Given the description of an element on the screen output the (x, y) to click on. 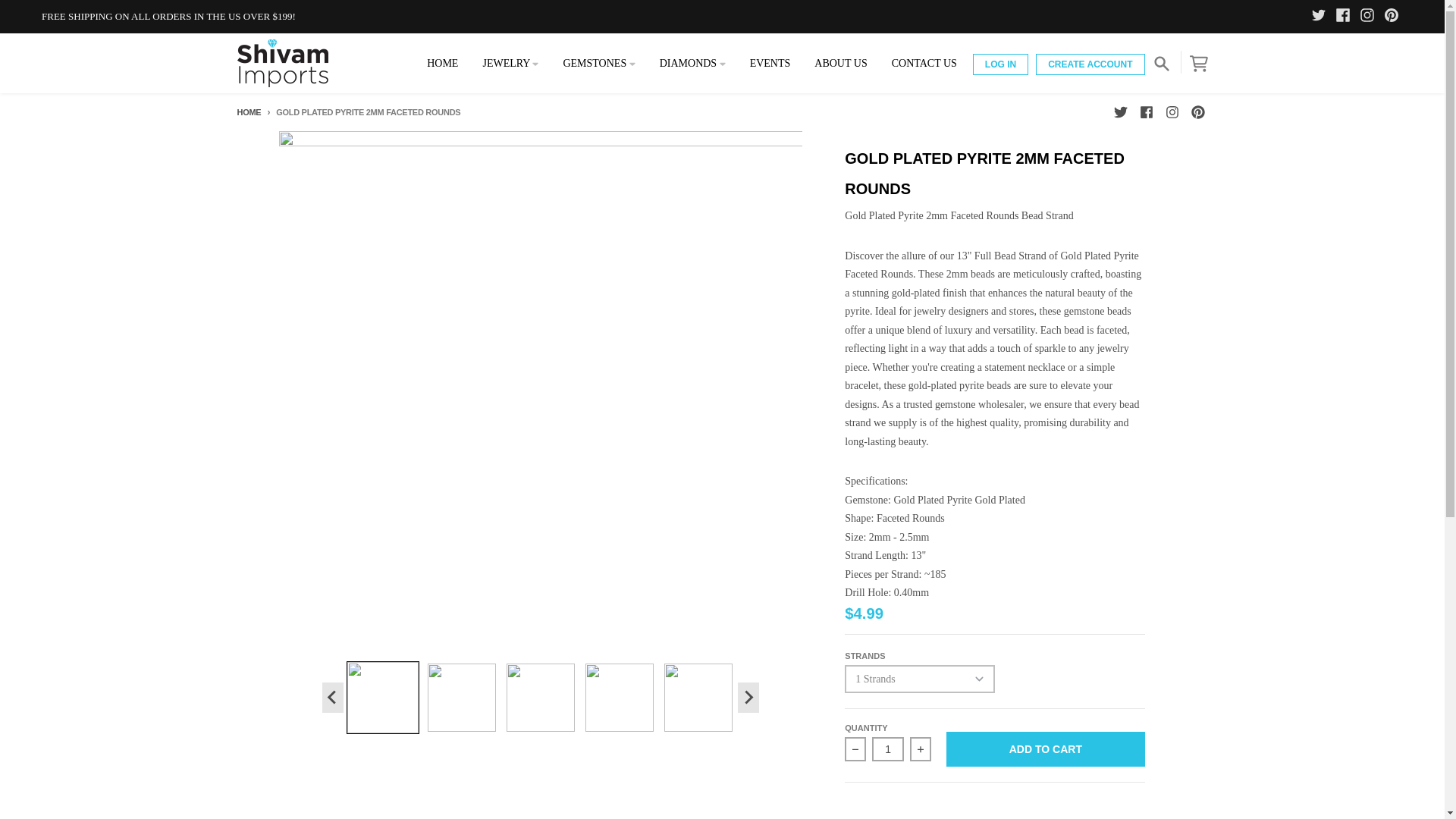
HOME (442, 62)
1 (888, 749)
Twitter - Shivam Imports (1320, 16)
Facebook - Shivam Imports (1345, 16)
Facebook - Shivam Imports (1145, 112)
Pinterest - Shivam Imports (1197, 112)
Pinterest - Shivam Imports (1393, 16)
Twitter - Shivam Imports (1119, 112)
Back to the homepage (247, 112)
Instagram - Shivam Imports (1170, 112)
